Given the description of an element on the screen output the (x, y) to click on. 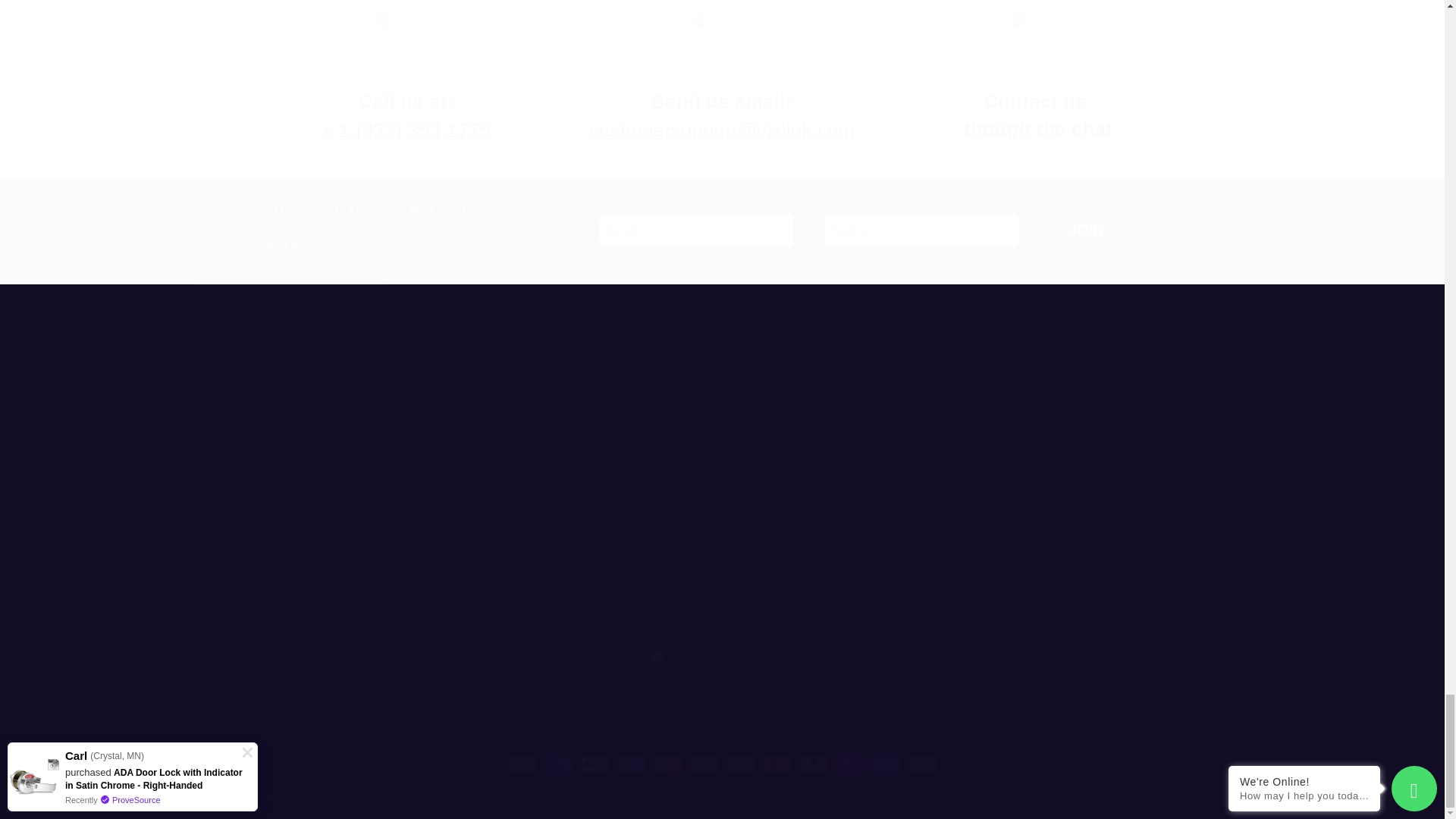
Join (1085, 230)
